Given the description of an element on the screen output the (x, y) to click on. 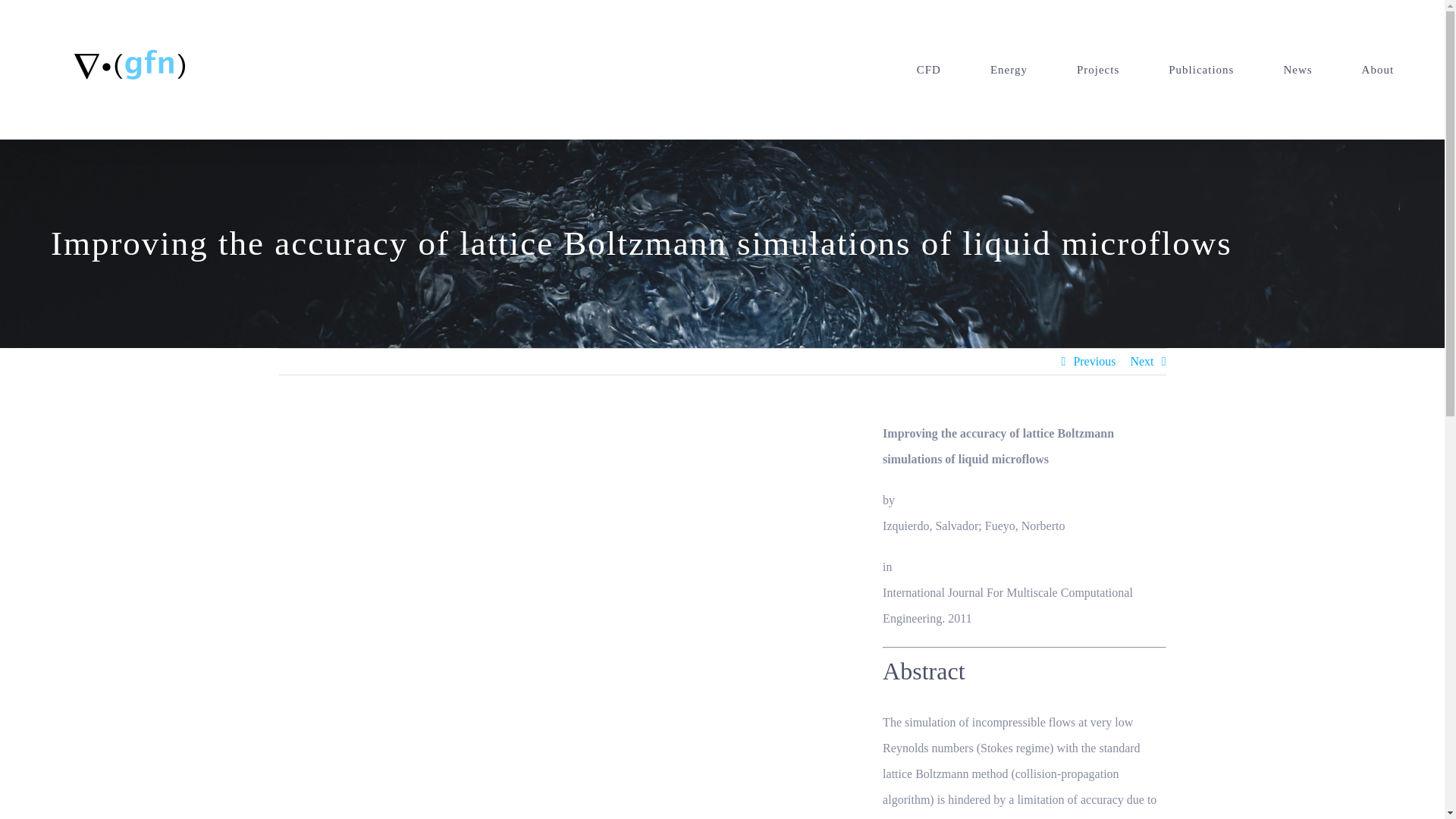
Next (1141, 361)
Previous (1094, 361)
